Given the description of an element on the screen output the (x, y) to click on. 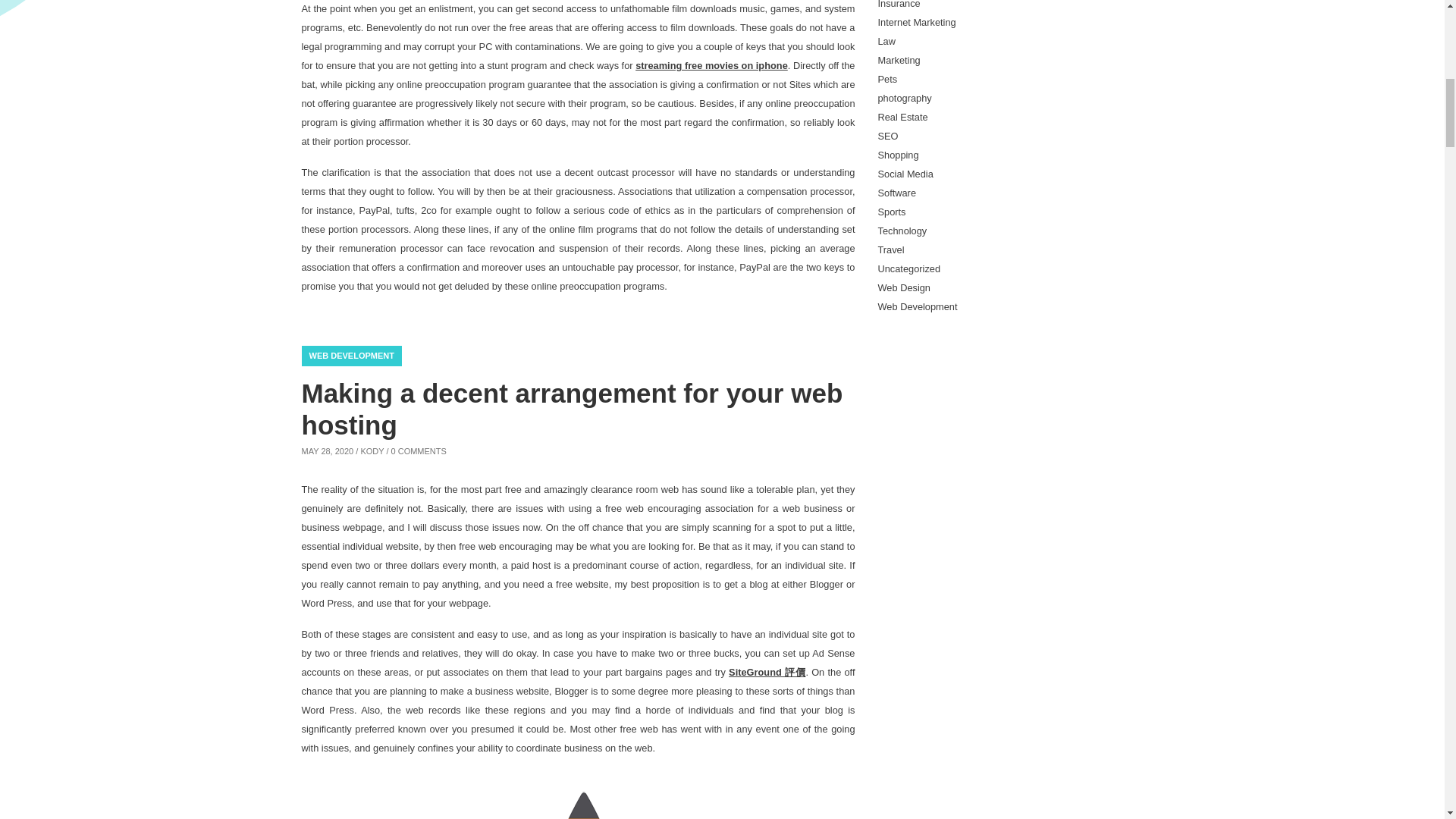
View all posts by Kody (371, 450)
WEB DEVELOPMENT (351, 355)
Making a decent arrangement for your web hosting (572, 408)
KODY (371, 450)
streaming free movies on iphone (710, 65)
Making a decent arrangement for your web hosting (572, 408)
